Given the description of an element on the screen output the (x, y) to click on. 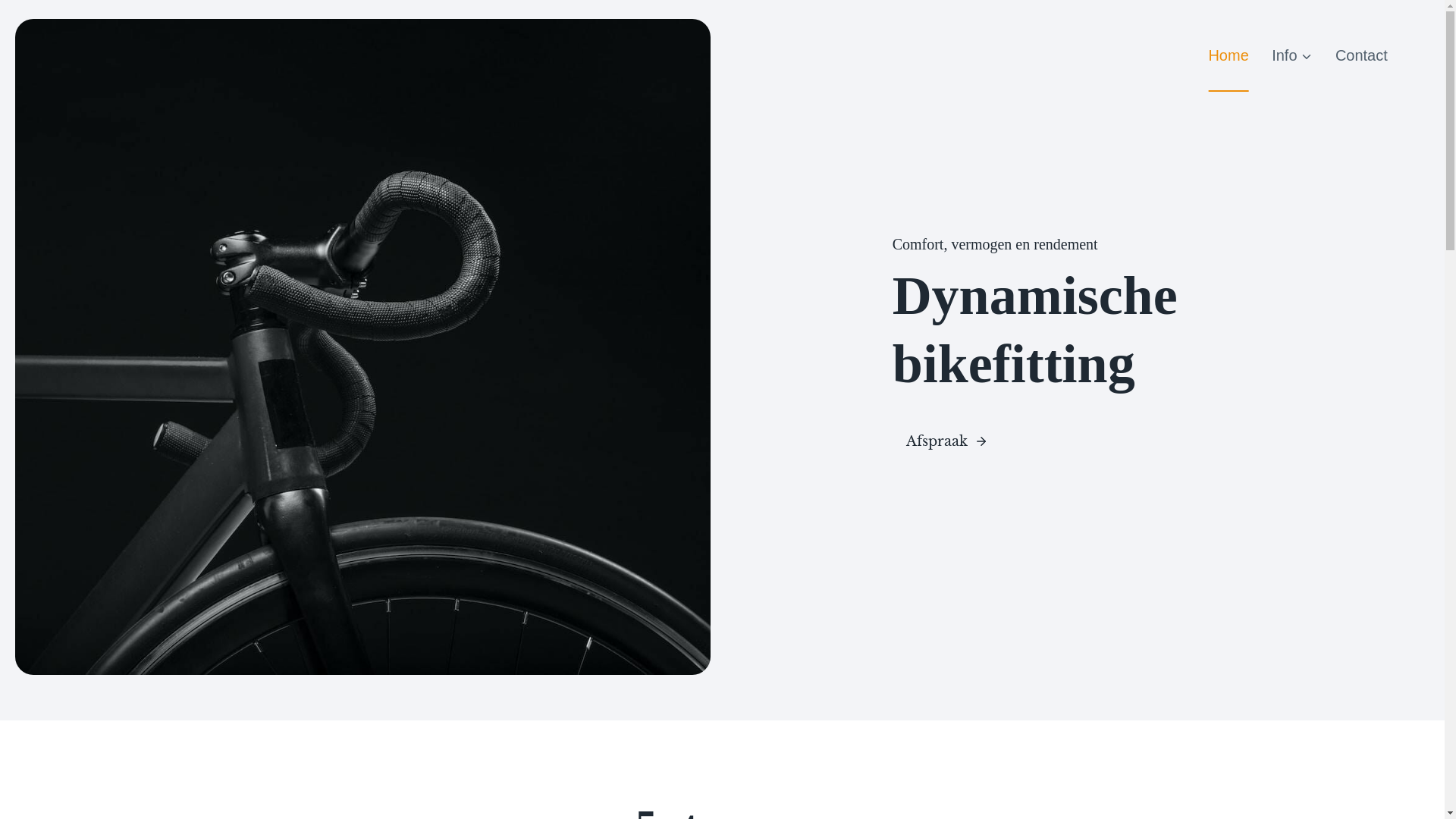
Afspraak Element type: text (946, 441)
Home Element type: text (1228, 54)
Contact Element type: text (1361, 54)
Info Element type: text (1292, 54)
